Given the description of an element on the screen output the (x, y) to click on. 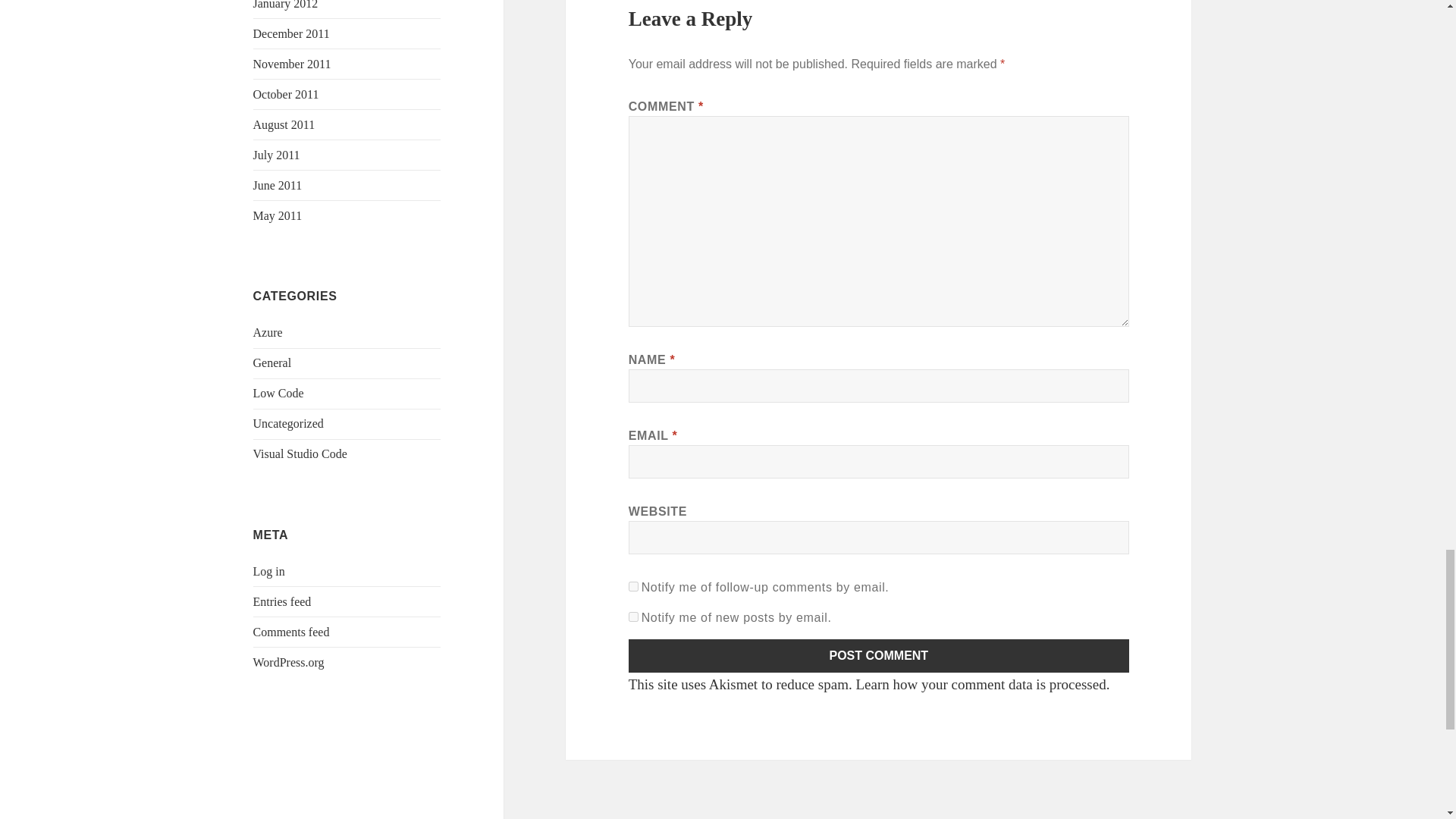
subscribe (633, 616)
subscribe (633, 586)
Post Comment (878, 655)
